Given the description of an element on the screen output the (x, y) to click on. 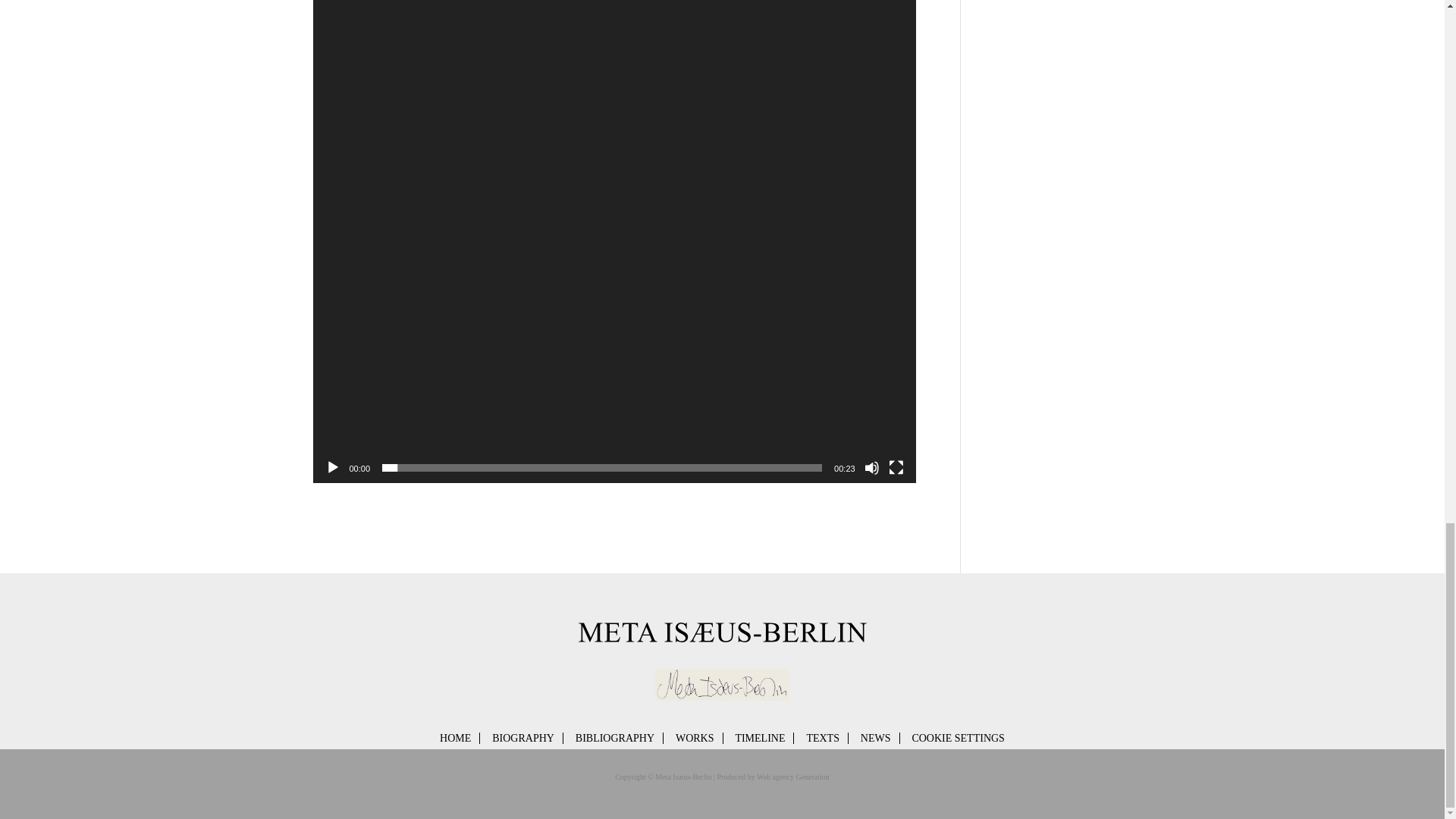
Fullscreen (896, 467)
Mute (871, 467)
WORKS (694, 738)
HOME (454, 738)
NEWS (875, 738)
COOKIE SETTINGS (957, 738)
Play (331, 467)
BIBLIOGRAPHY (614, 738)
BIOGRAPHY (523, 738)
TIMELINE (759, 738)
